Given the description of an element on the screen output the (x, y) to click on. 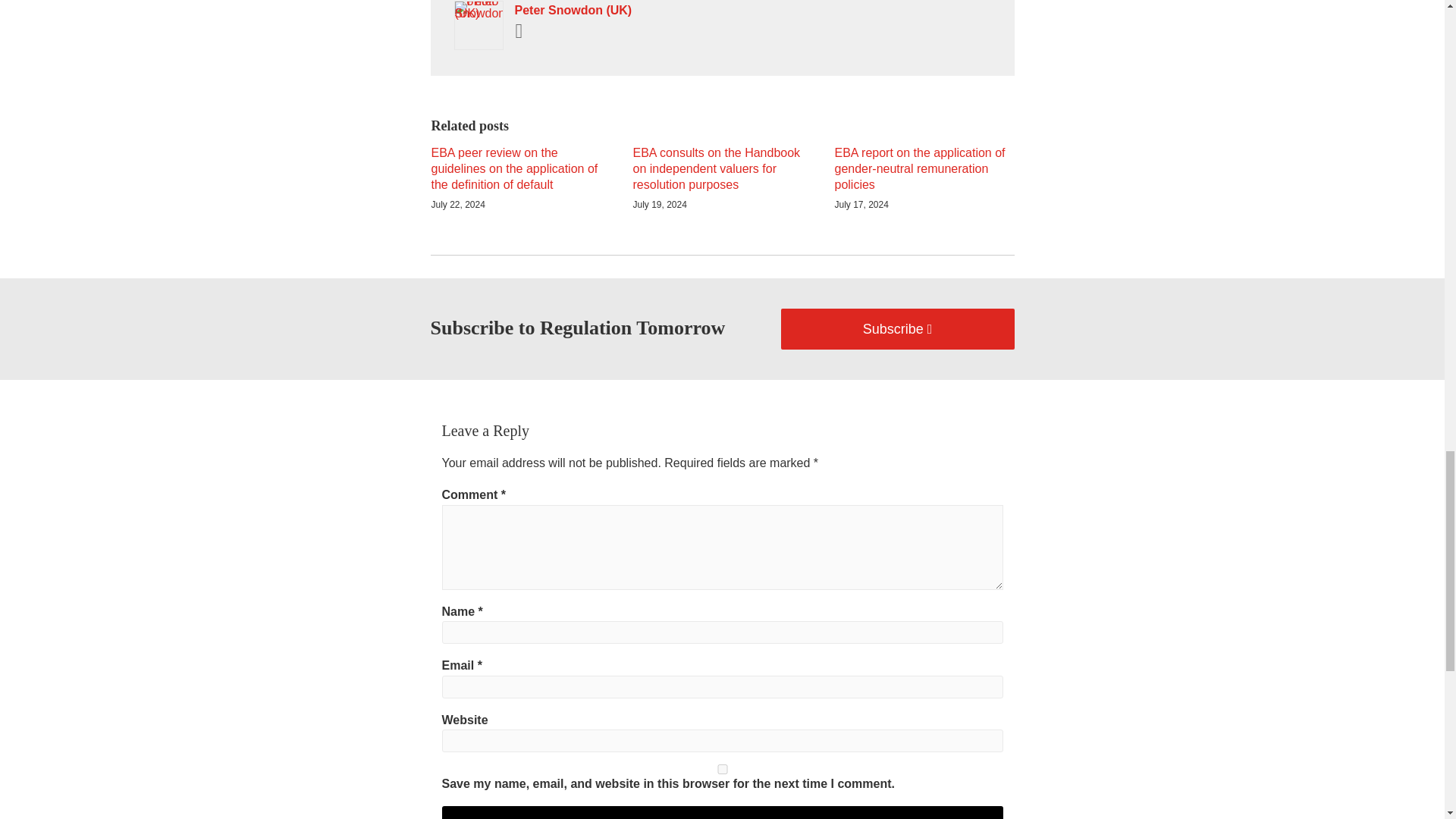
Post Comment (722, 812)
yes (722, 768)
